Given the description of an element on the screen output the (x, y) to click on. 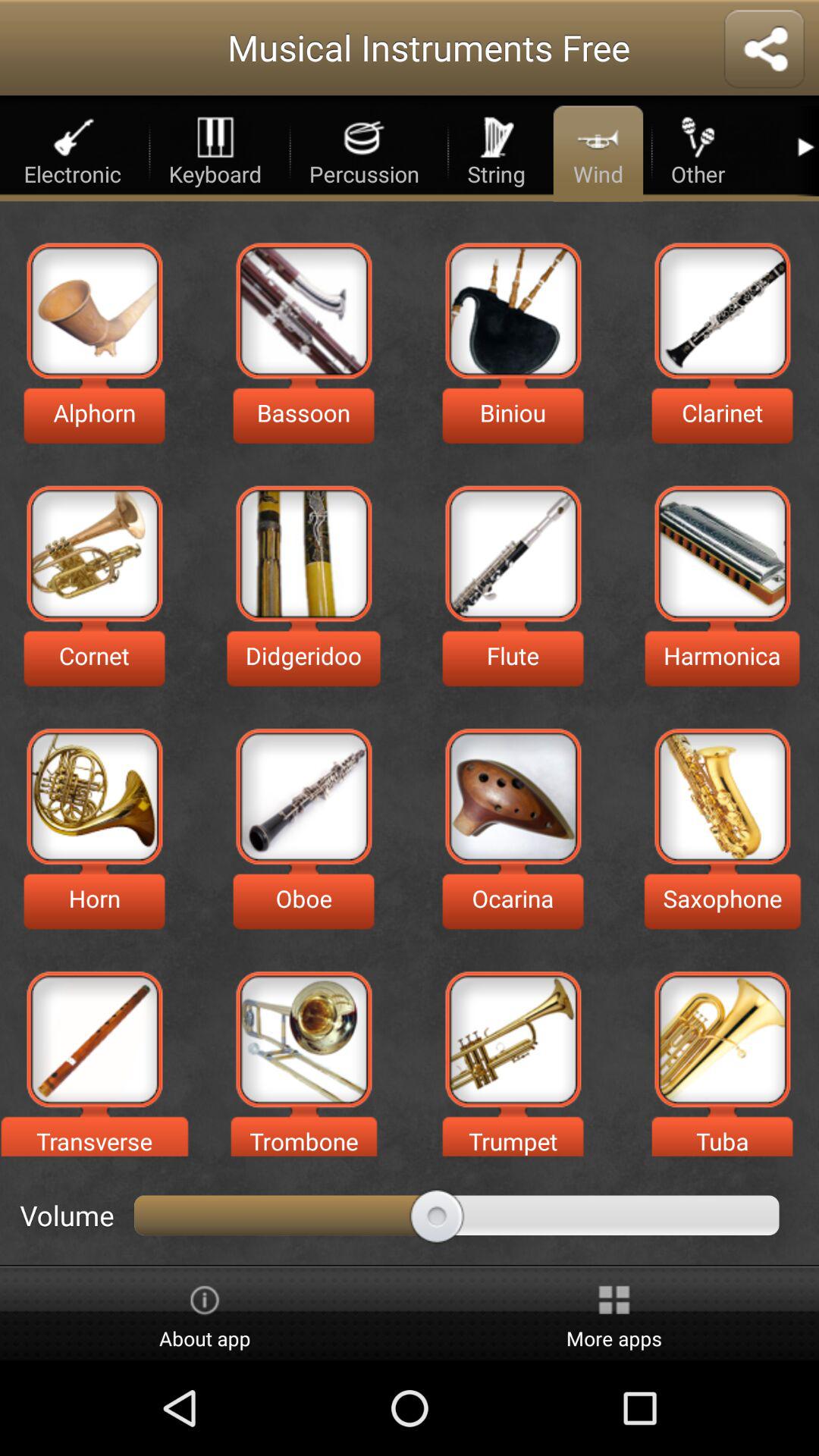
bluetooth icon (764, 50)
